Given the description of an element on the screen output the (x, y) to click on. 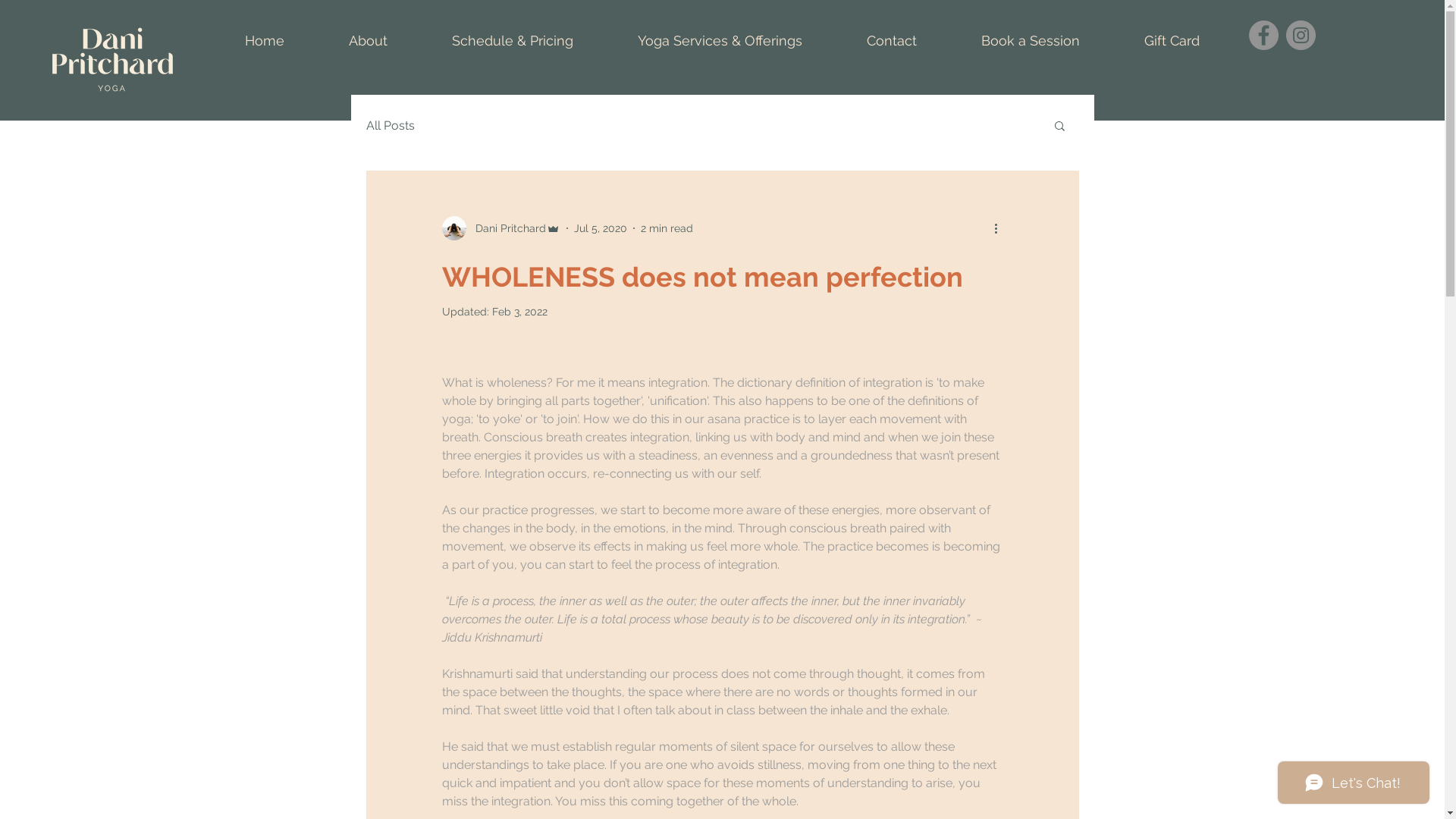
Contact Element type: text (891, 40)
Book a Session Element type: text (1030, 40)
All Posts Element type: text (389, 125)
_FullLogo_Sage.png Element type: hover (111, 59)
Home Element type: text (264, 40)
Dani Pritchard Element type: text (500, 228)
Gift Card Element type: text (1171, 40)
